Given the description of an element on the screen output the (x, y) to click on. 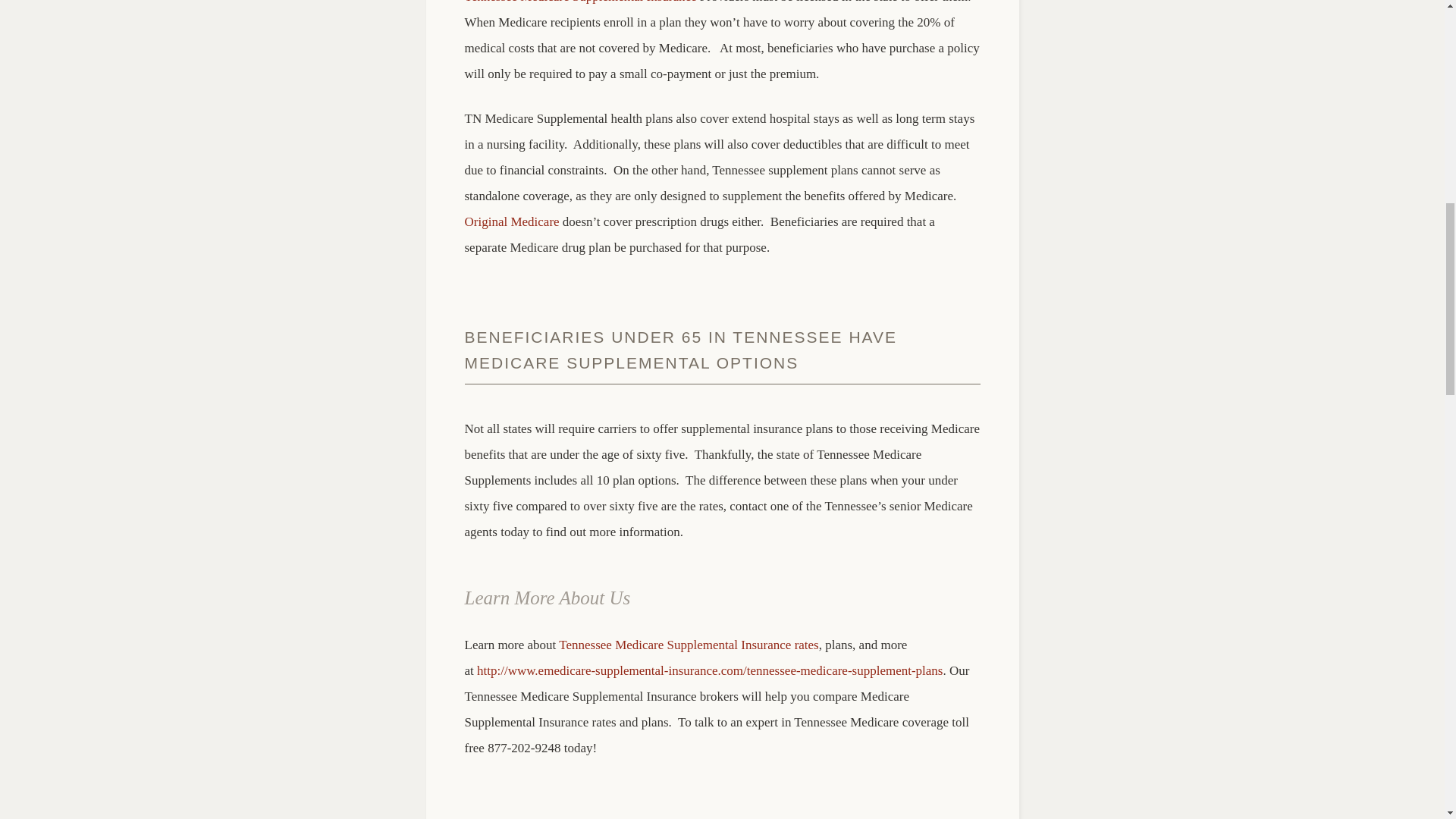
Tennessee Medicare Supplemental Insurance rates (688, 644)
Tennessee Medicare Supplemental Insurance (579, 2)
Original Medicare (511, 221)
